Given the description of an element on the screen output the (x, y) to click on. 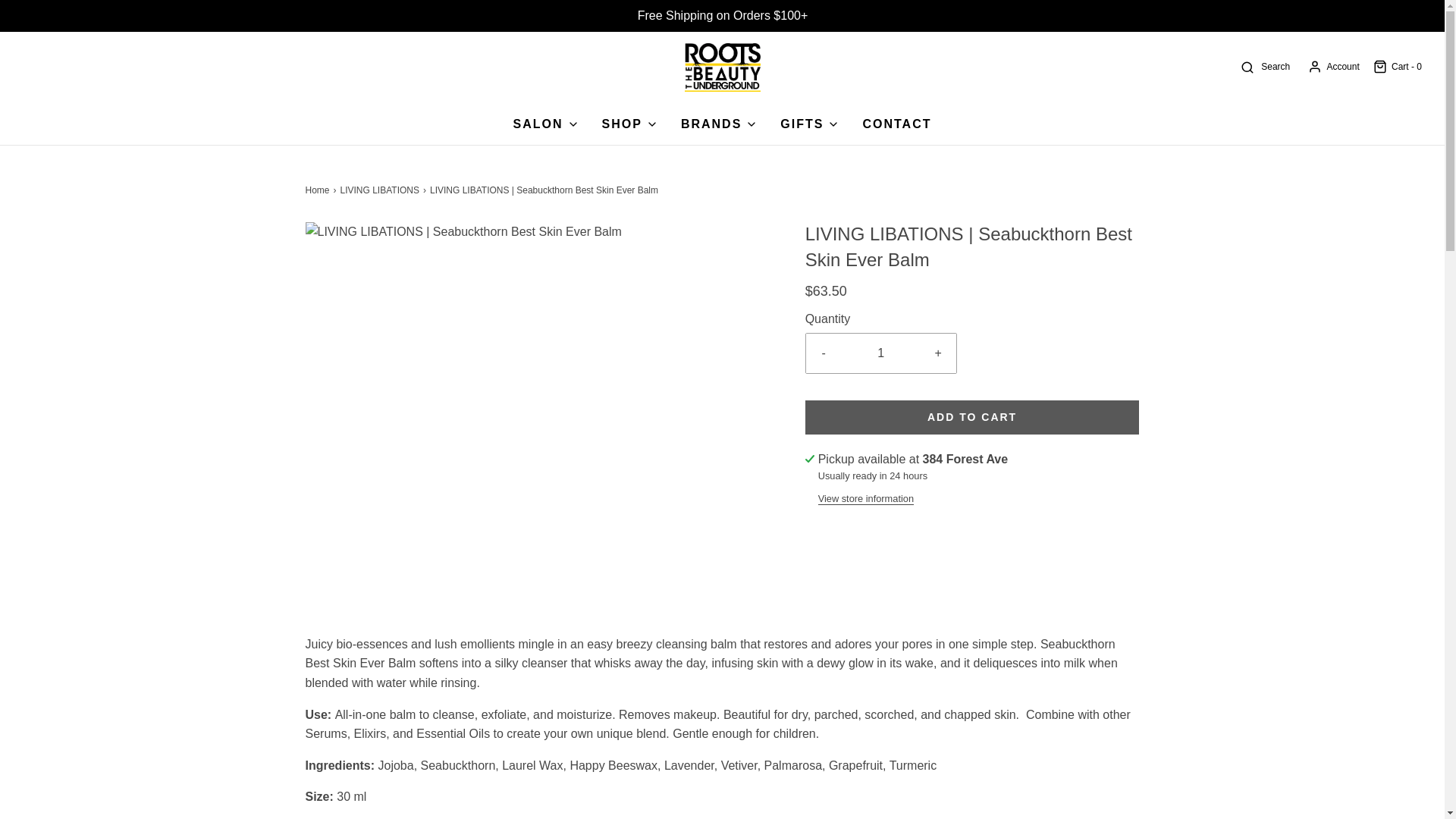
Cart - 0 (1396, 66)
SHOP (630, 124)
Cart (1396, 66)
Search (1264, 66)
SALON (546, 124)
Back to the frontpage (318, 190)
Log in (1332, 66)
1 (881, 353)
Search (1264, 66)
Account (1332, 66)
